Given the description of an element on the screen output the (x, y) to click on. 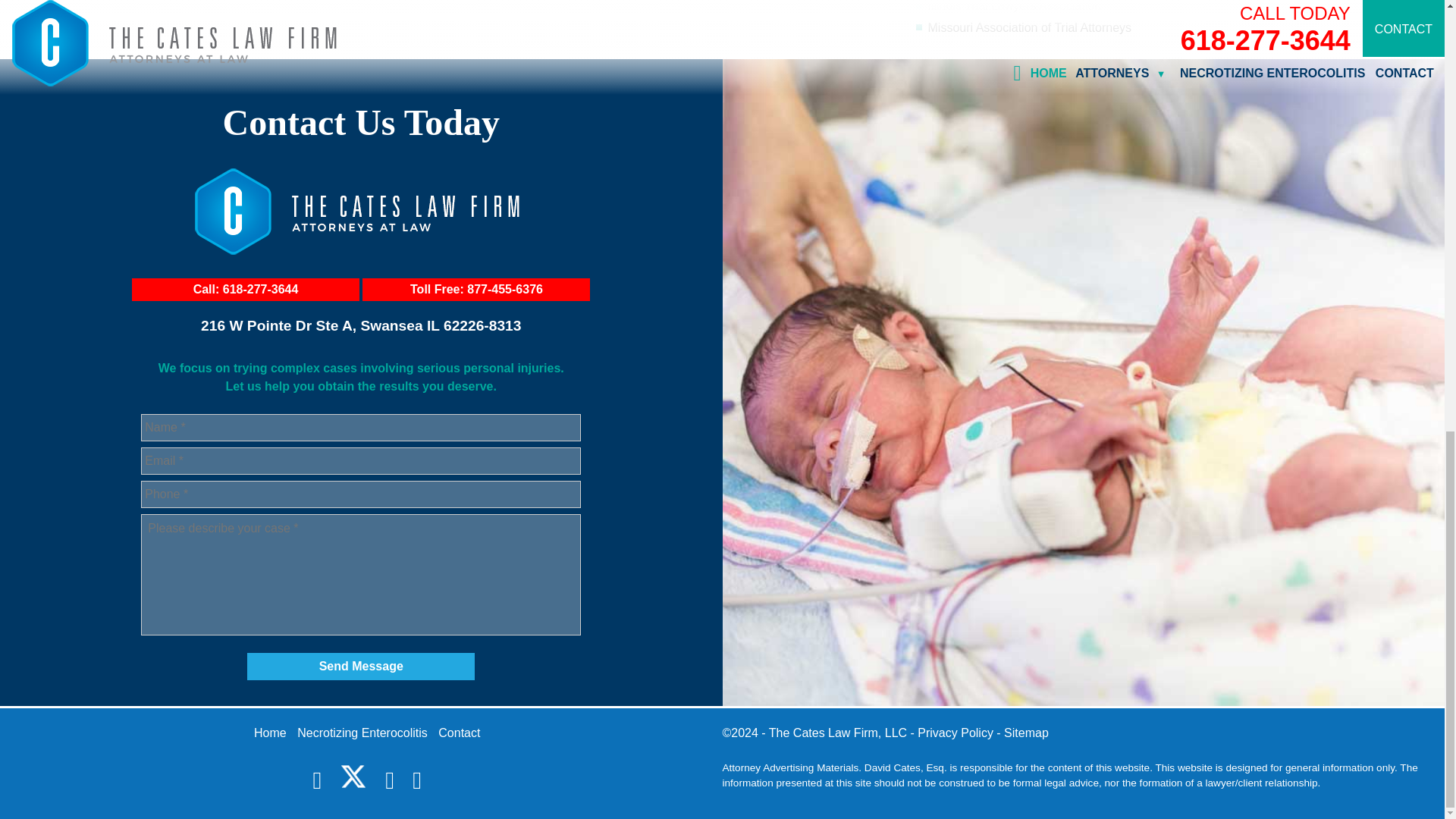
Send Message (360, 666)
Privacy Policy (954, 732)
Send Message (360, 666)
Necrotizing Enterocolitis (362, 732)
Sitemap (1026, 732)
Home (269, 732)
Call: 618-277-3644 (245, 289)
Toll Free: 877-455-6376 (475, 289)
Contact (459, 732)
